Given the description of an element on the screen output the (x, y) to click on. 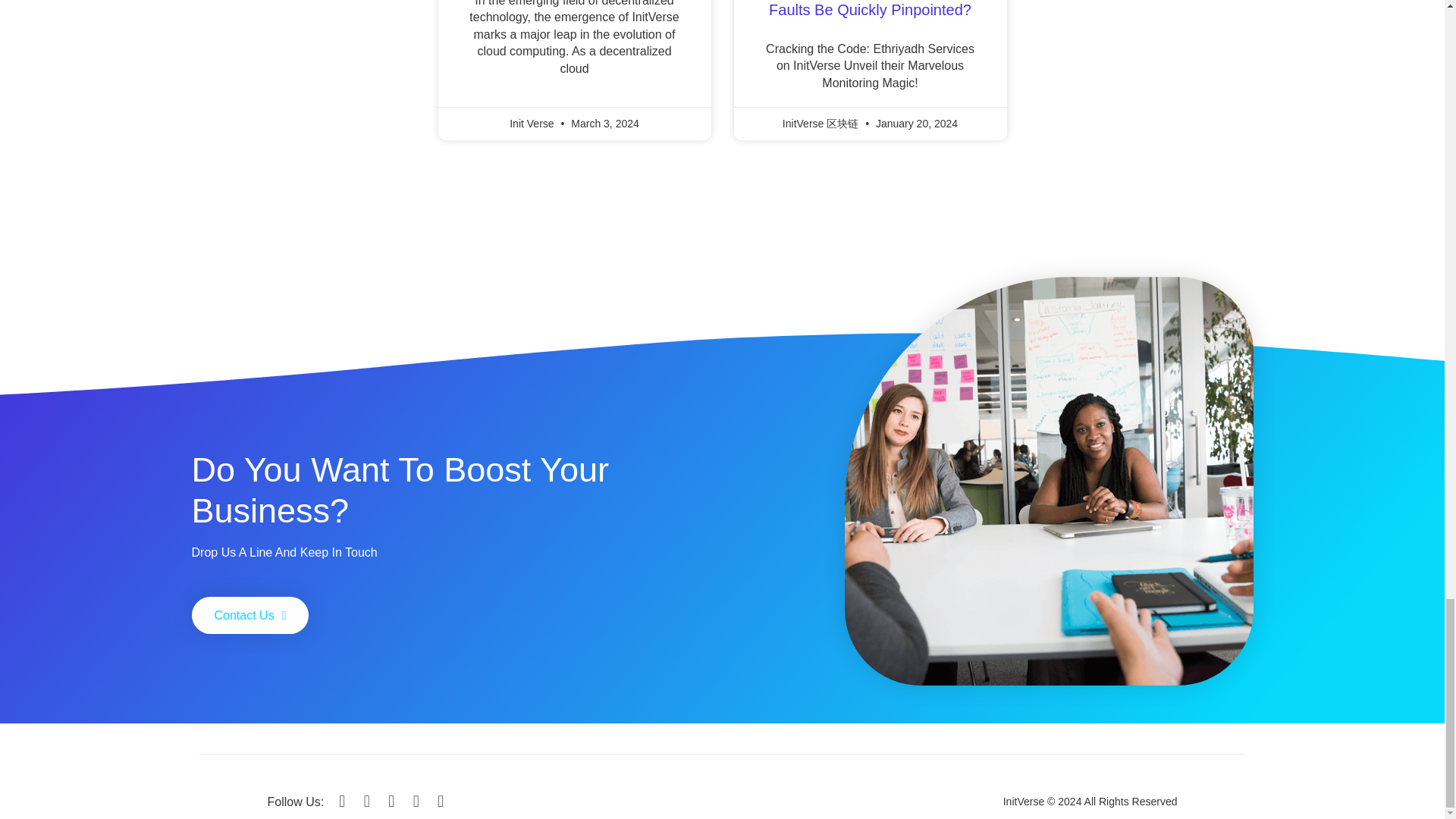
Contact Us (249, 615)
